Given the description of an element on the screen output the (x, y) to click on. 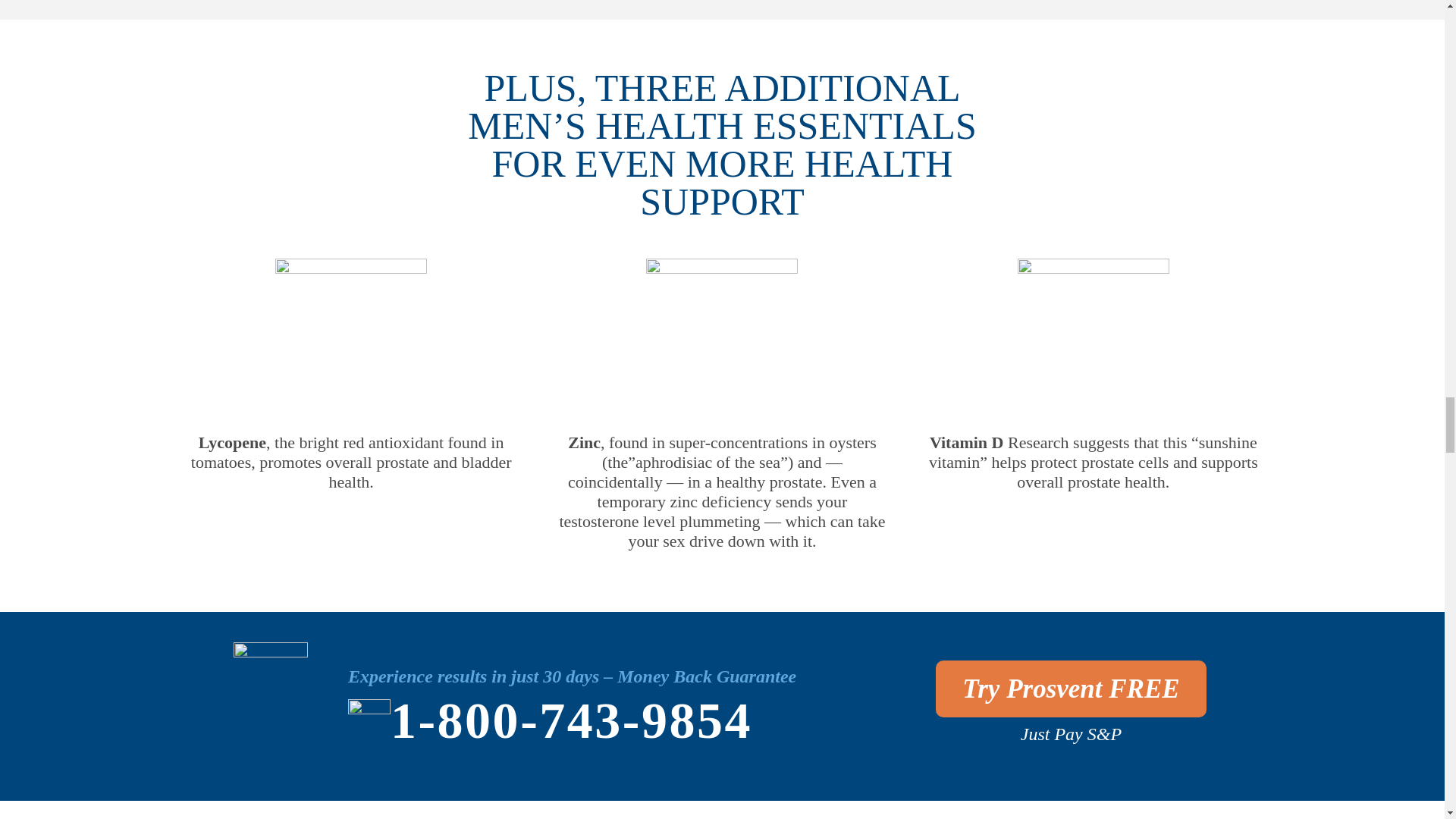
Try Prosvent FREE (1071, 688)
